Given the description of an element on the screen output the (x, y) to click on. 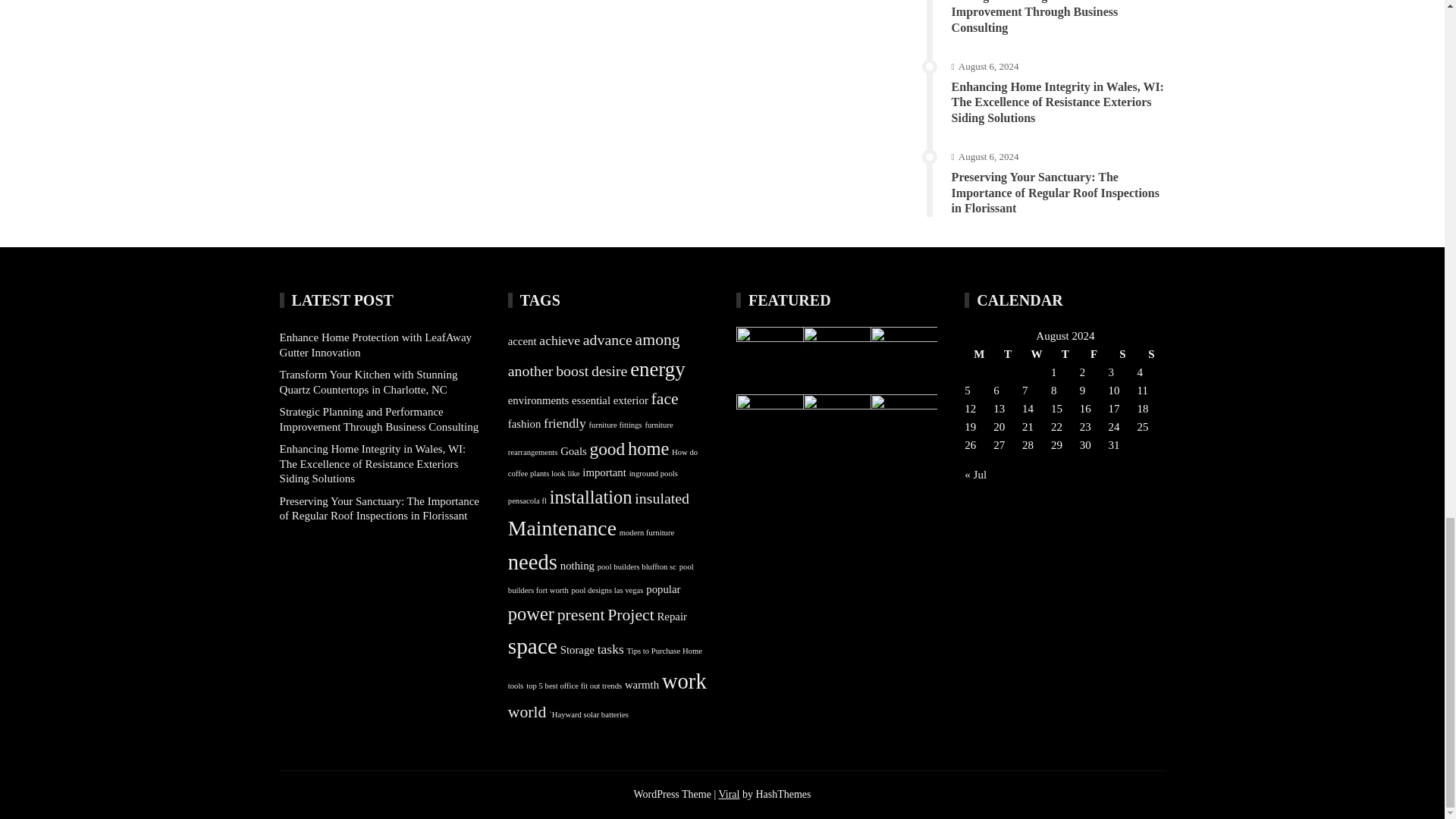
Saturday (1122, 353)
Wednesday (1036, 353)
Friday (1094, 353)
Monday (977, 353)
Tuesday (1007, 353)
Sunday (1151, 353)
Thursday (1065, 353)
Download Viral (728, 794)
